Given the description of an element on the screen output the (x, y) to click on. 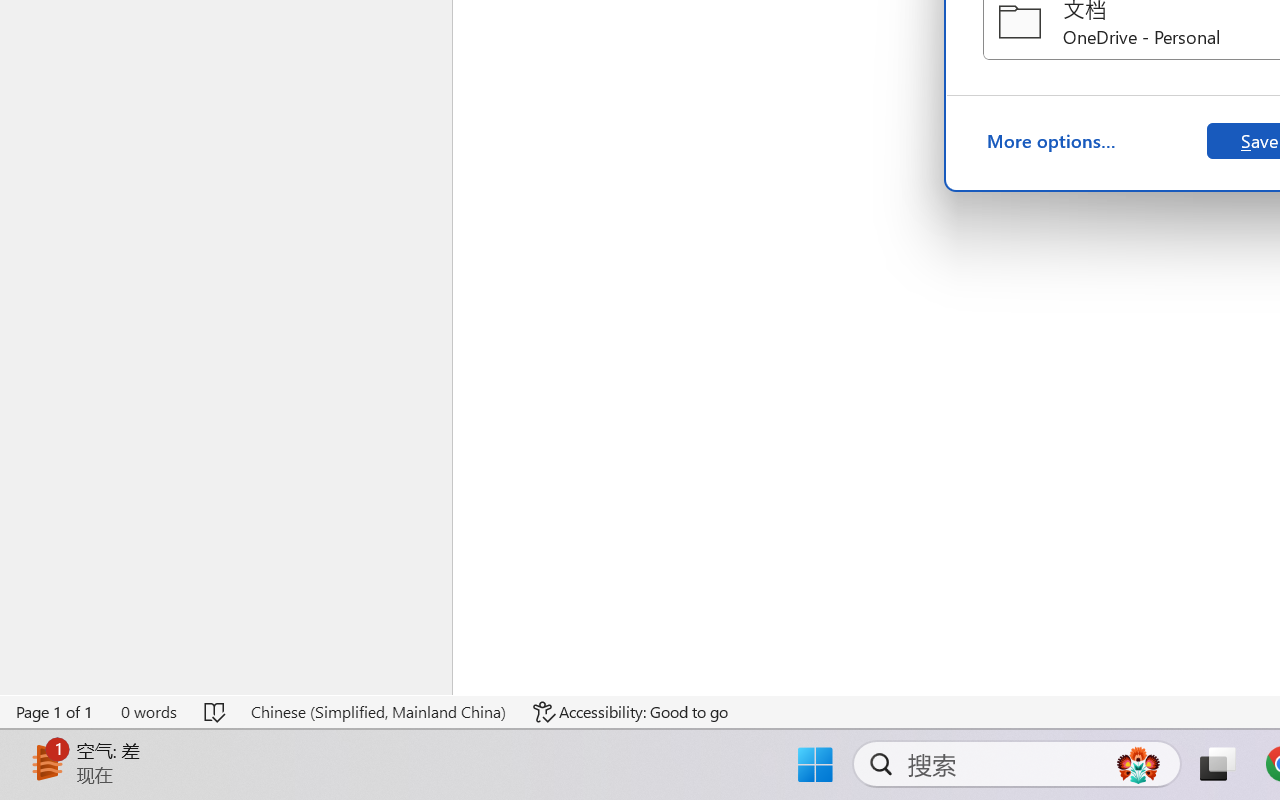
Language Chinese (Simplified, Mainland China) (378, 712)
